Given the description of an element on the screen output the (x, y) to click on. 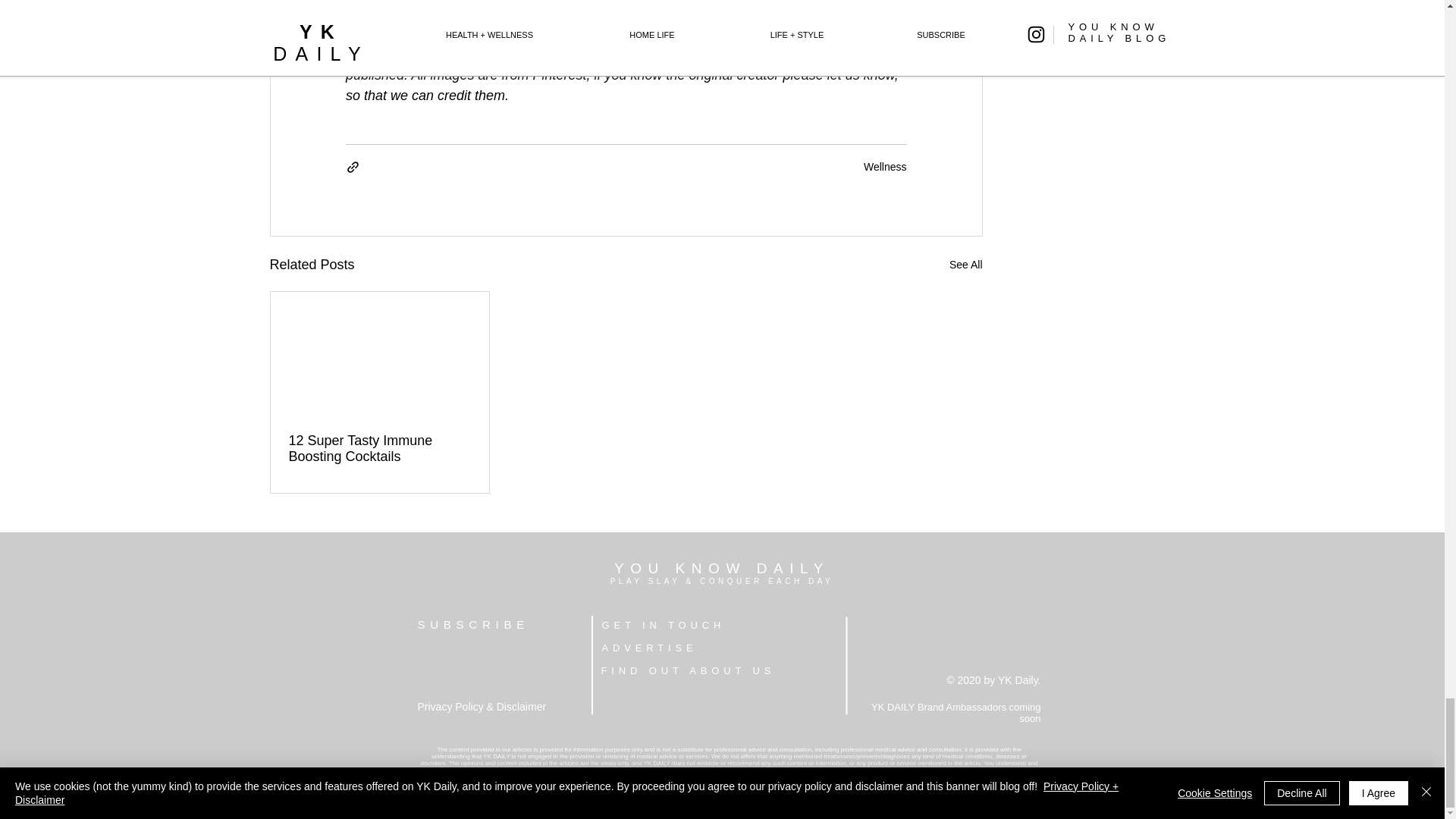
12 Super Tasty Immune Boosting Cocktails (379, 449)
See All (965, 264)
SUBSCRIBE (472, 624)
GET IN TOUCH (663, 624)
FIND OUT ABOUT US (686, 670)
Wellness (885, 166)
ADVERTISE (649, 647)
YOU KNOW  (685, 568)
